Given the description of an element on the screen output the (x, y) to click on. 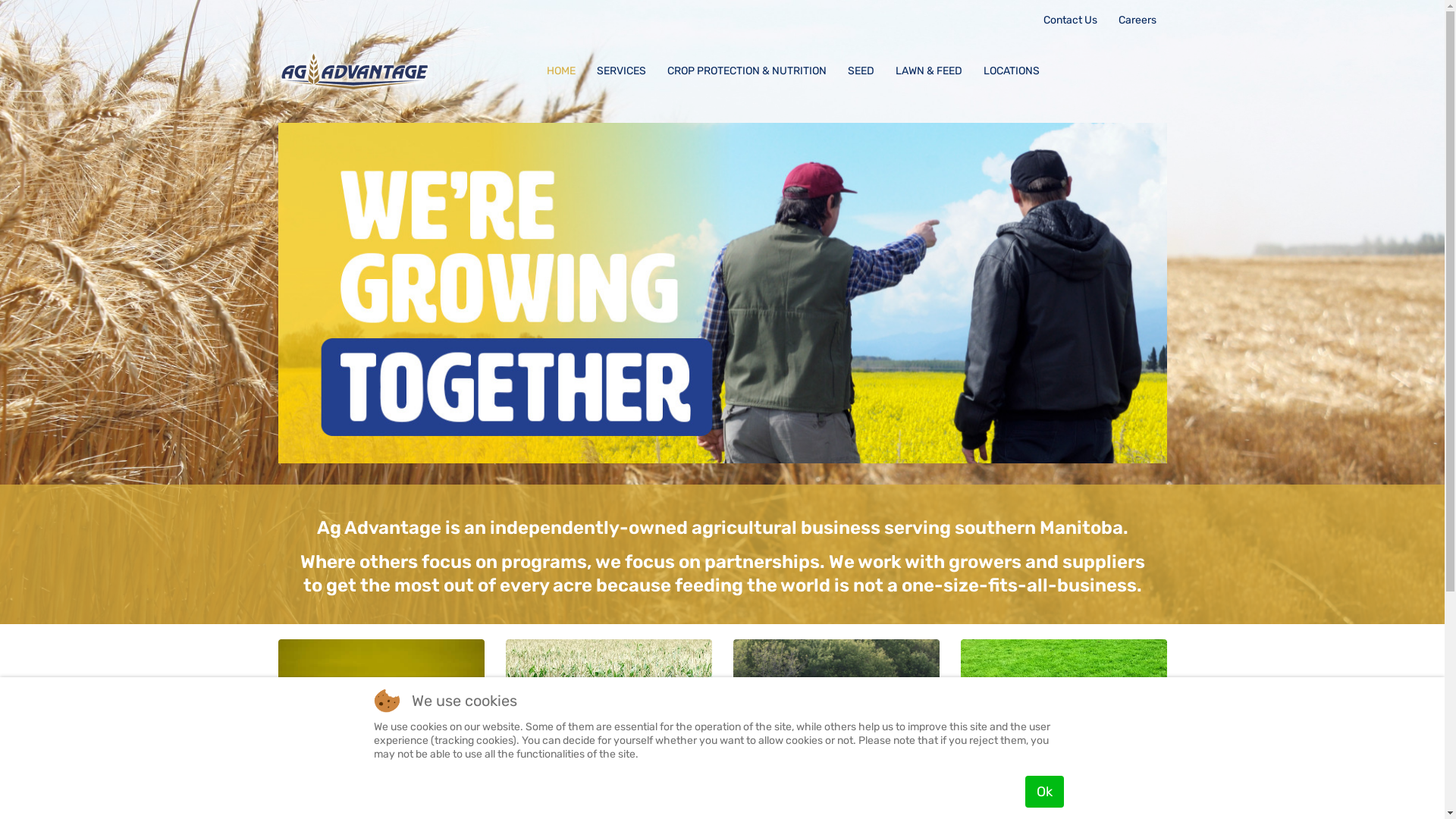
SEED Element type: text (860, 70)
Careers Element type: text (1136, 19)
Lawn & Feed Element type: hover (1063, 741)
CROP PROTECTION & NUTRITION Element type: text (746, 70)
Services Element type: hover (835, 741)
Crop Protection & Nutrition Element type: hover (608, 741)
LAWN & FEED Element type: text (928, 70)
LOCATIONS Element type: text (1010, 70)
Seed Element type: hover (380, 741)
Ok Element type: text (1044, 791)
Contact Us Element type: text (1069, 19)
Ag Advantage Ltd Element type: hover (353, 69)
SERVICES Element type: text (620, 70)
HOME Element type: text (560, 70)
